Given the description of an element on the screen output the (x, y) to click on. 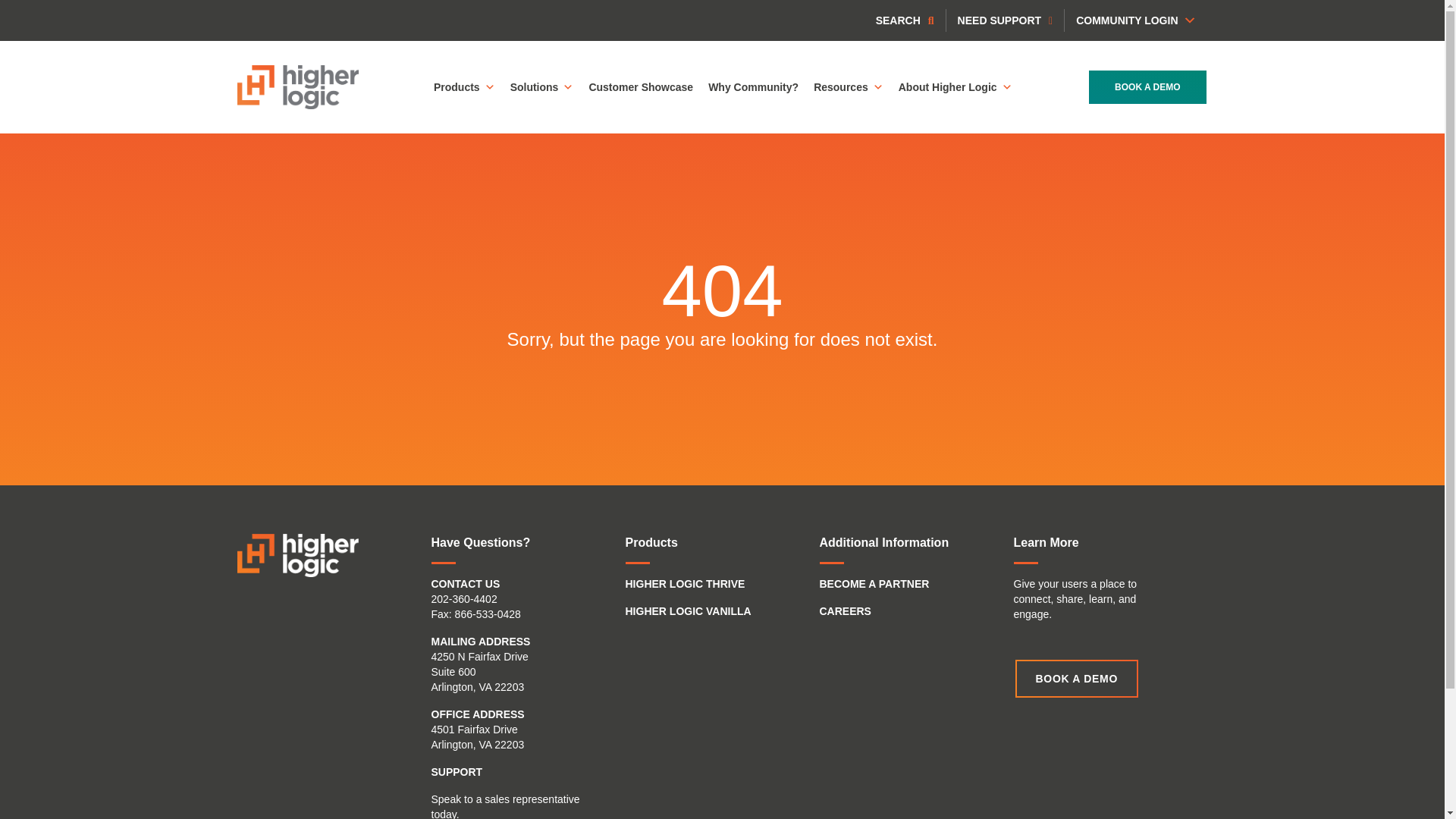
SEARCH (904, 20)
Solutions (541, 87)
NEED SUPPORT (1005, 20)
Customer Showcase (640, 87)
Products (464, 87)
COMMUNITY LOGIN (1135, 20)
Why Community? (753, 87)
